Given the description of an element on the screen output the (x, y) to click on. 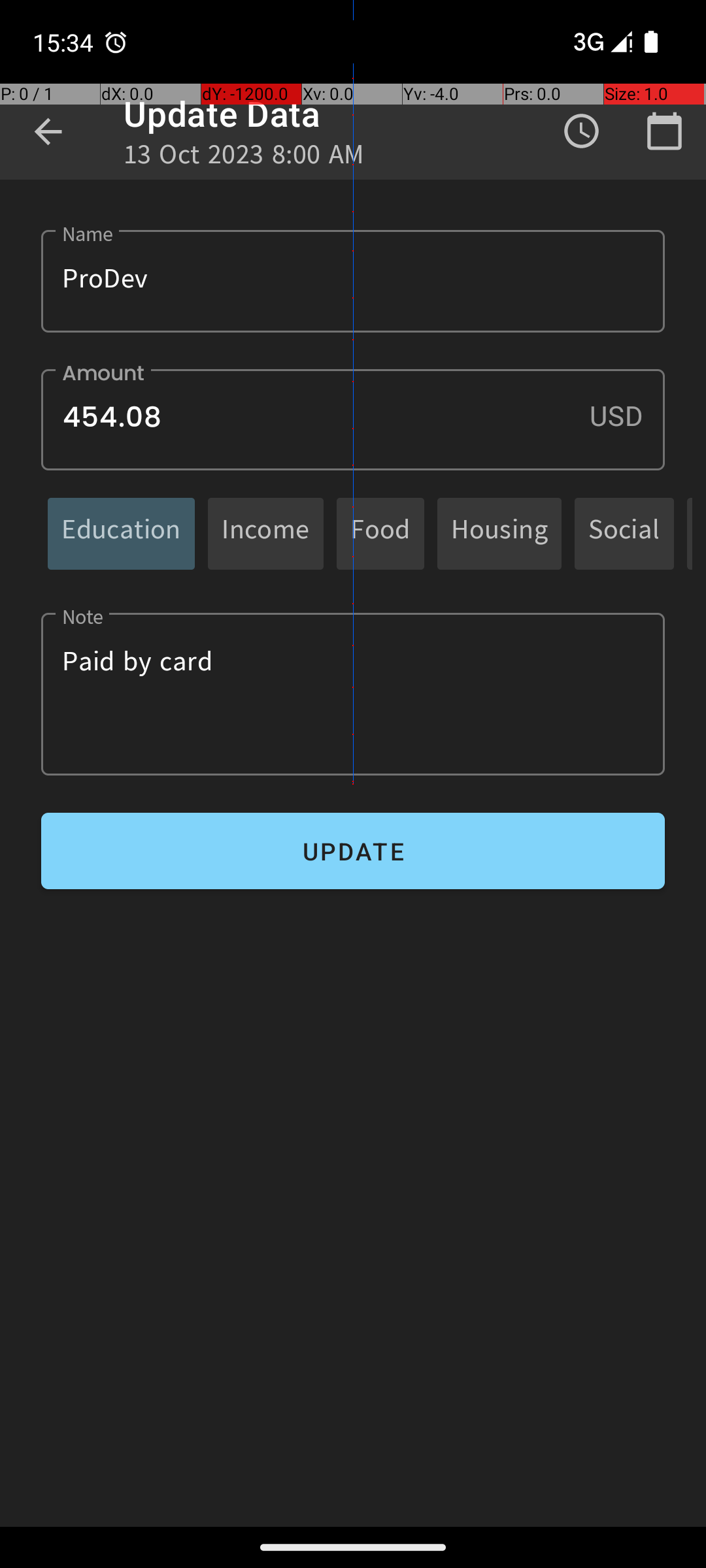
13 Oct 2023 8:00 AM Element type: android.widget.TextView (243, 157)
ProDev Element type: android.widget.EditText (352, 280)
454.08 Element type: android.widget.EditText (352, 419)
Education Element type: android.widget.TextView (121, 533)
